Given the description of an element on the screen output the (x, y) to click on. 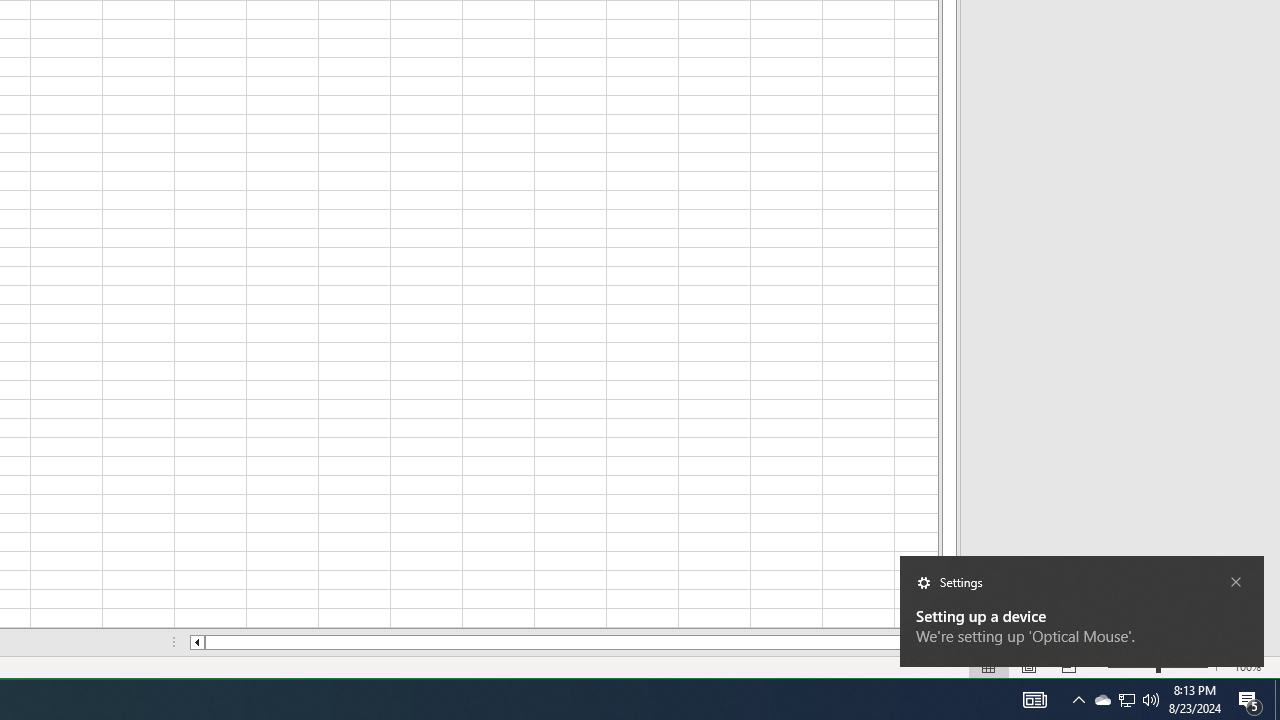
Column left (1102, 699)
Zoom (1126, 699)
Show desktop (196, 642)
Zoom In (1158, 667)
User Promoted Notification Area (1277, 699)
Zoom Out (1217, 667)
Q2790: 100% (1126, 699)
Class: NetUIScrollBar (1131, 667)
Action Center, 5 new notifications (1151, 699)
Notification Chevron (564, 642)
AutomationID: 4105 (1250, 699)
